Given the description of an element on the screen output the (x, y) to click on. 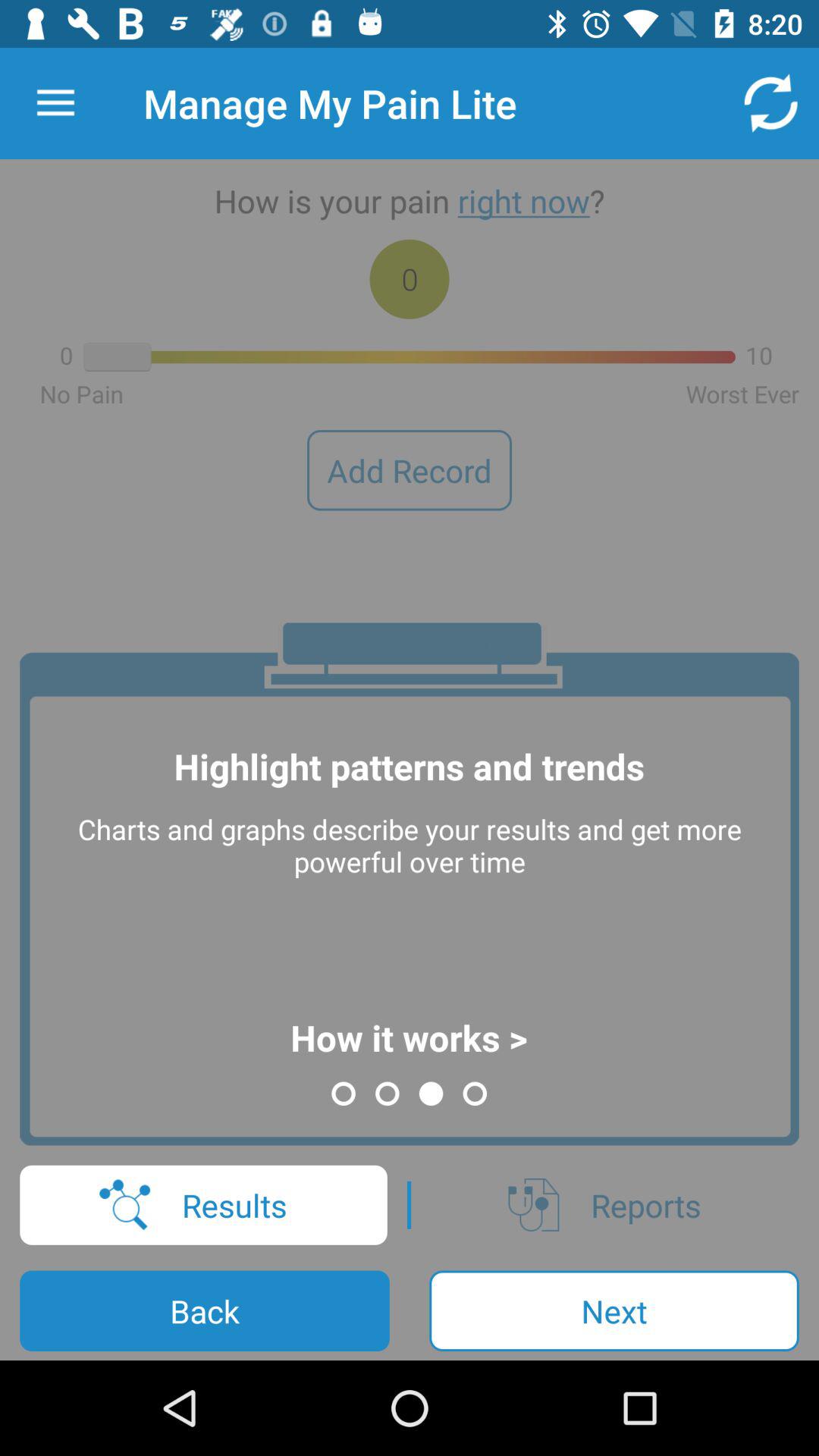
click the three line info button (55, 103)
